Given the description of an element on the screen output the (x, y) to click on. 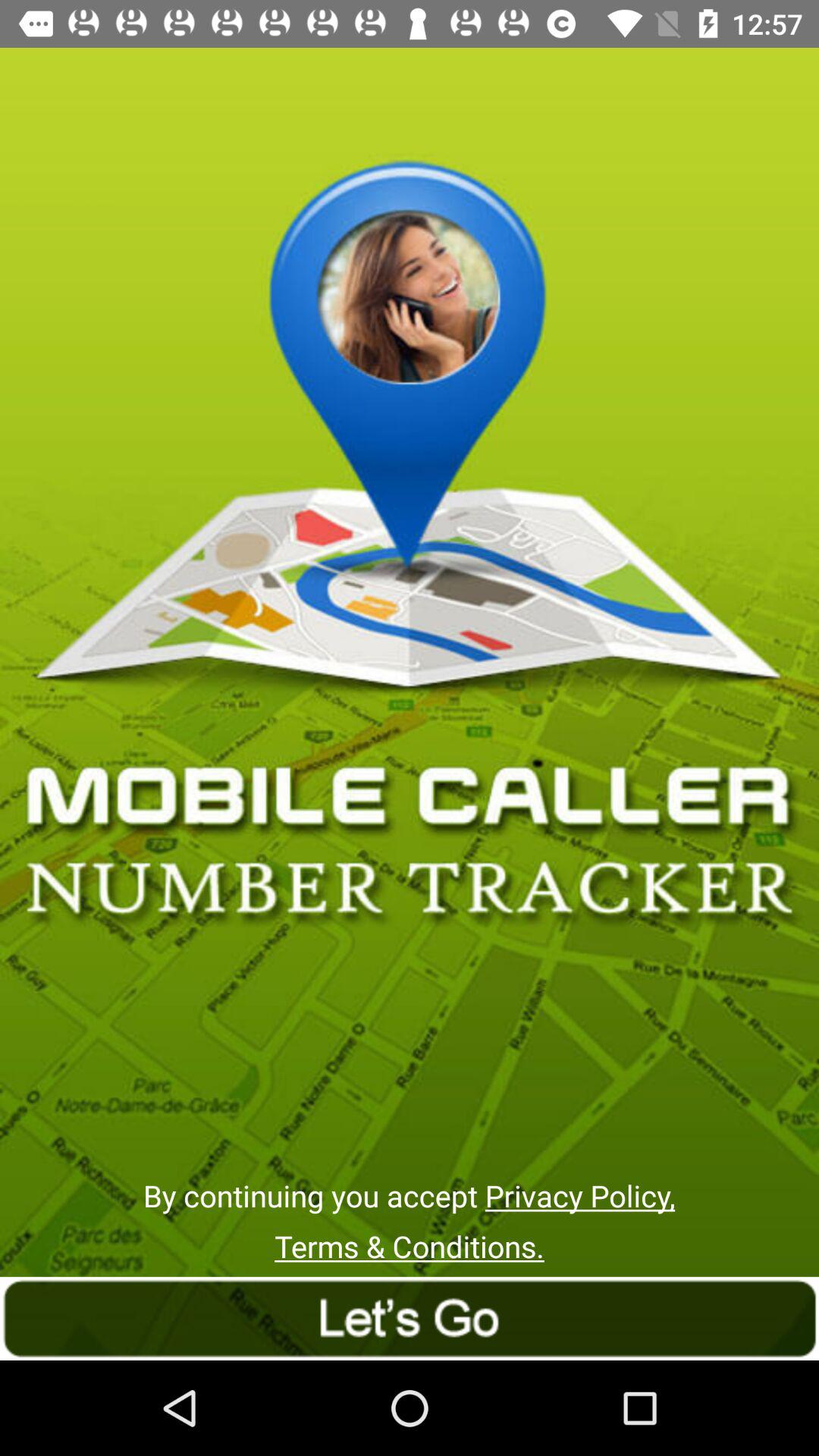
select the item below the terms & conditions. item (409, 1318)
